Given the description of an element on the screen output the (x, y) to click on. 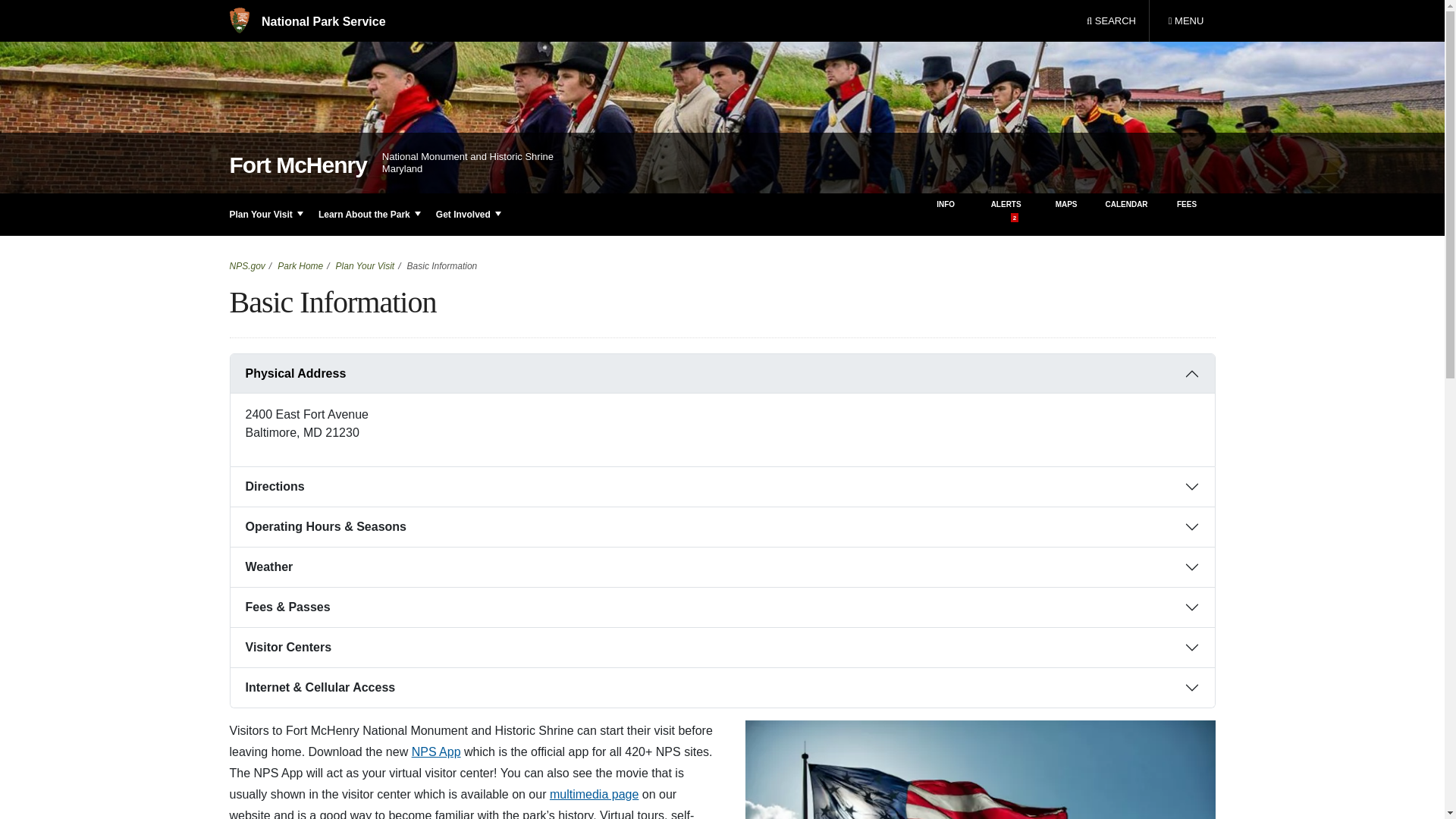
SEARCH (1111, 20)
National Park Service (307, 20)
